Given the description of an element on the screen output the (x, y) to click on. 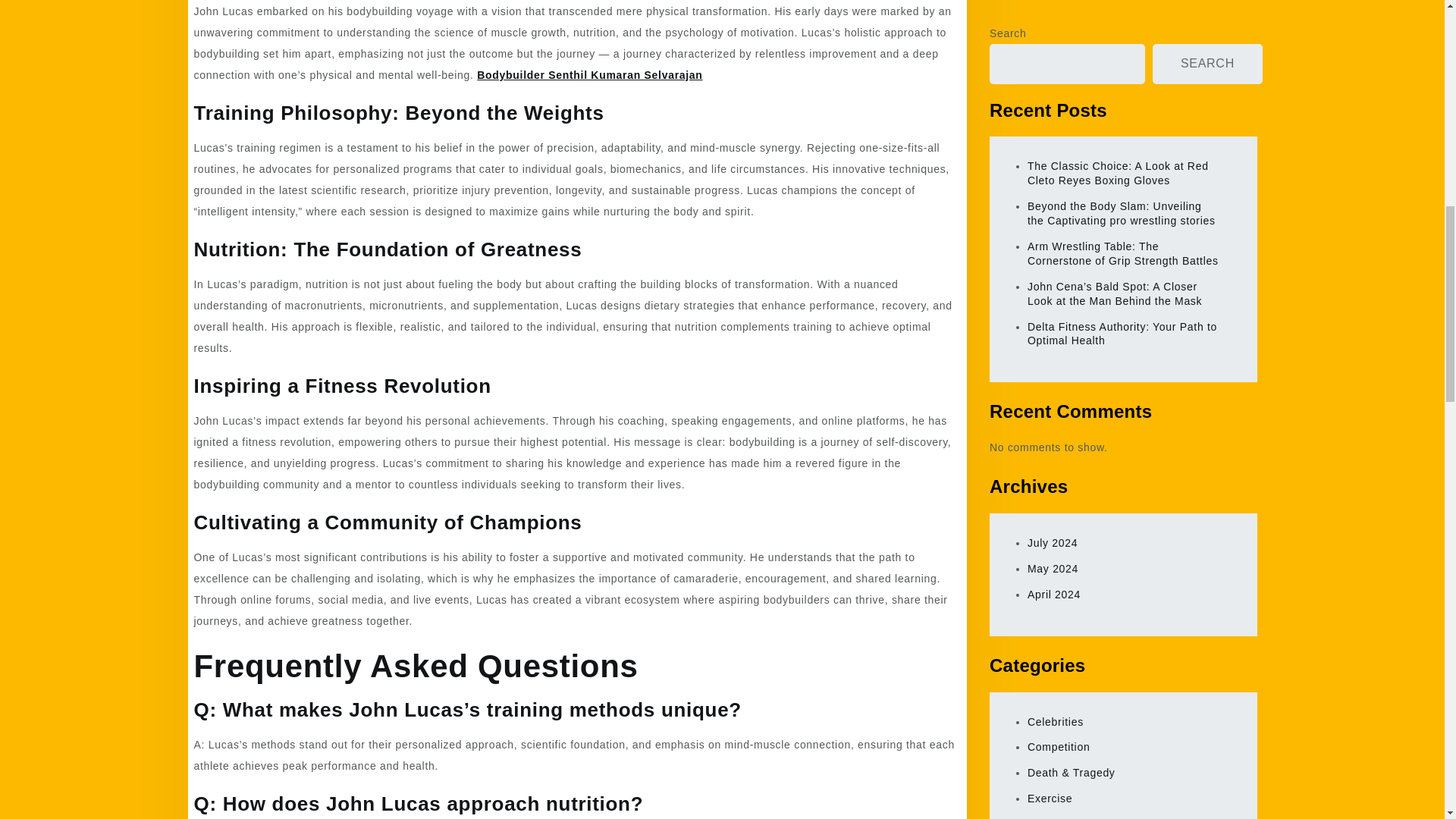
Bodybuilder Senthil Kumaran Selvarajan (589, 74)
